Given the description of an element on the screen output the (x, y) to click on. 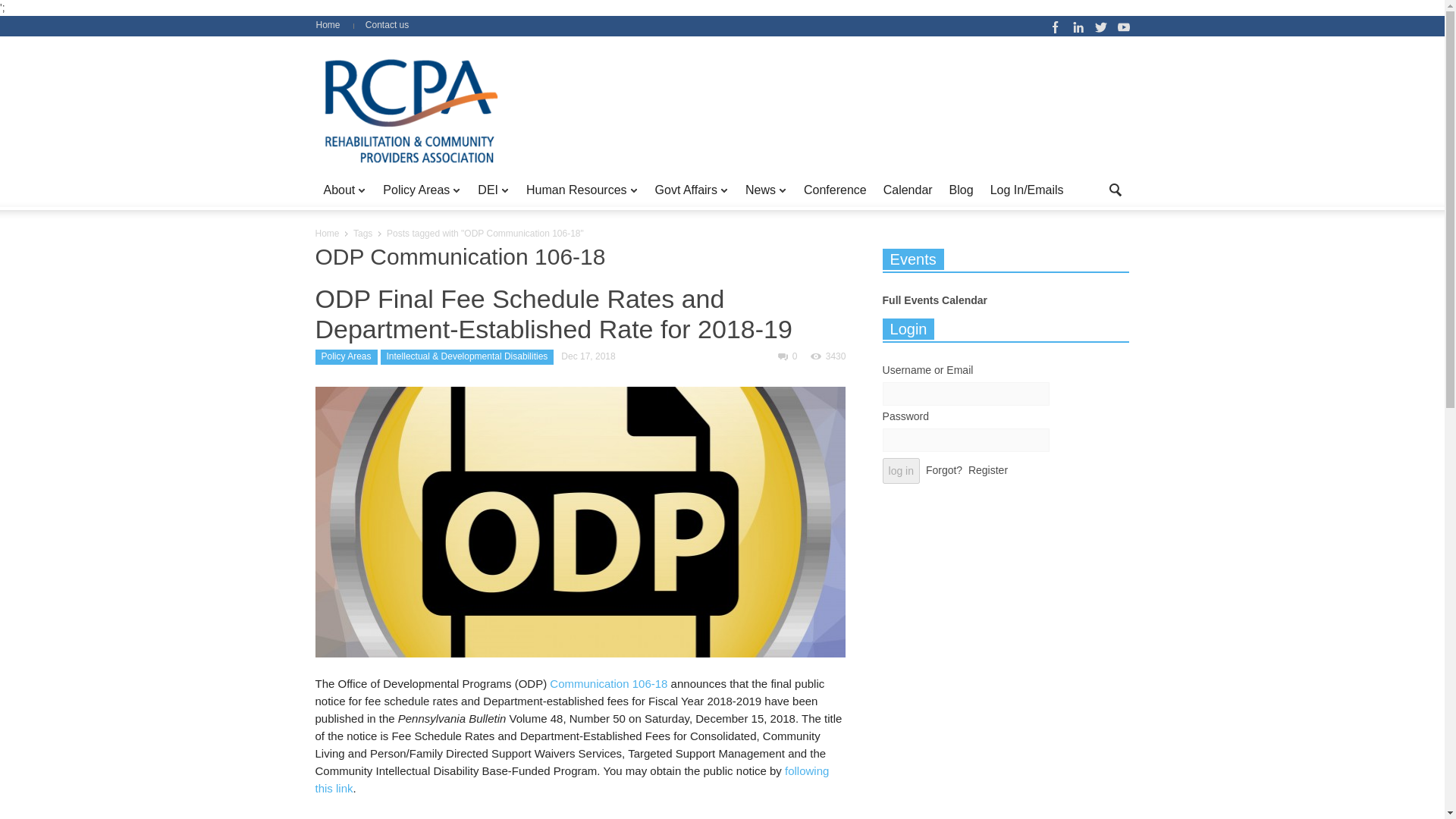
Contact us (386, 24)
Home (332, 24)
log in (901, 470)
